Given the description of an element on the screen output the (x, y) to click on. 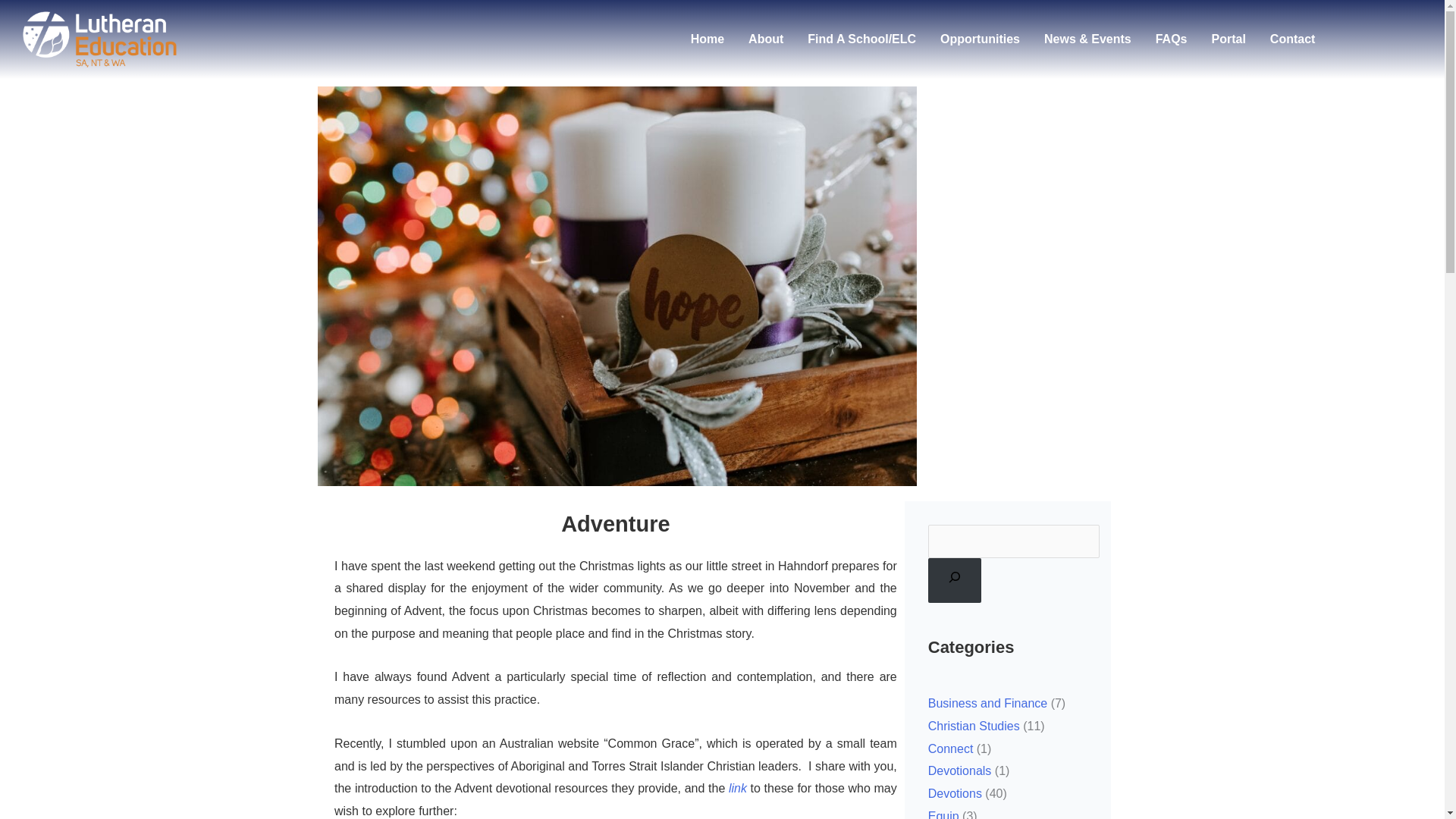
FAQs (1170, 39)
Opportunities (980, 39)
Portal (1228, 39)
Home (707, 39)
About (765, 39)
Contact (1292, 39)
